Given the description of an element on the screen output the (x, y) to click on. 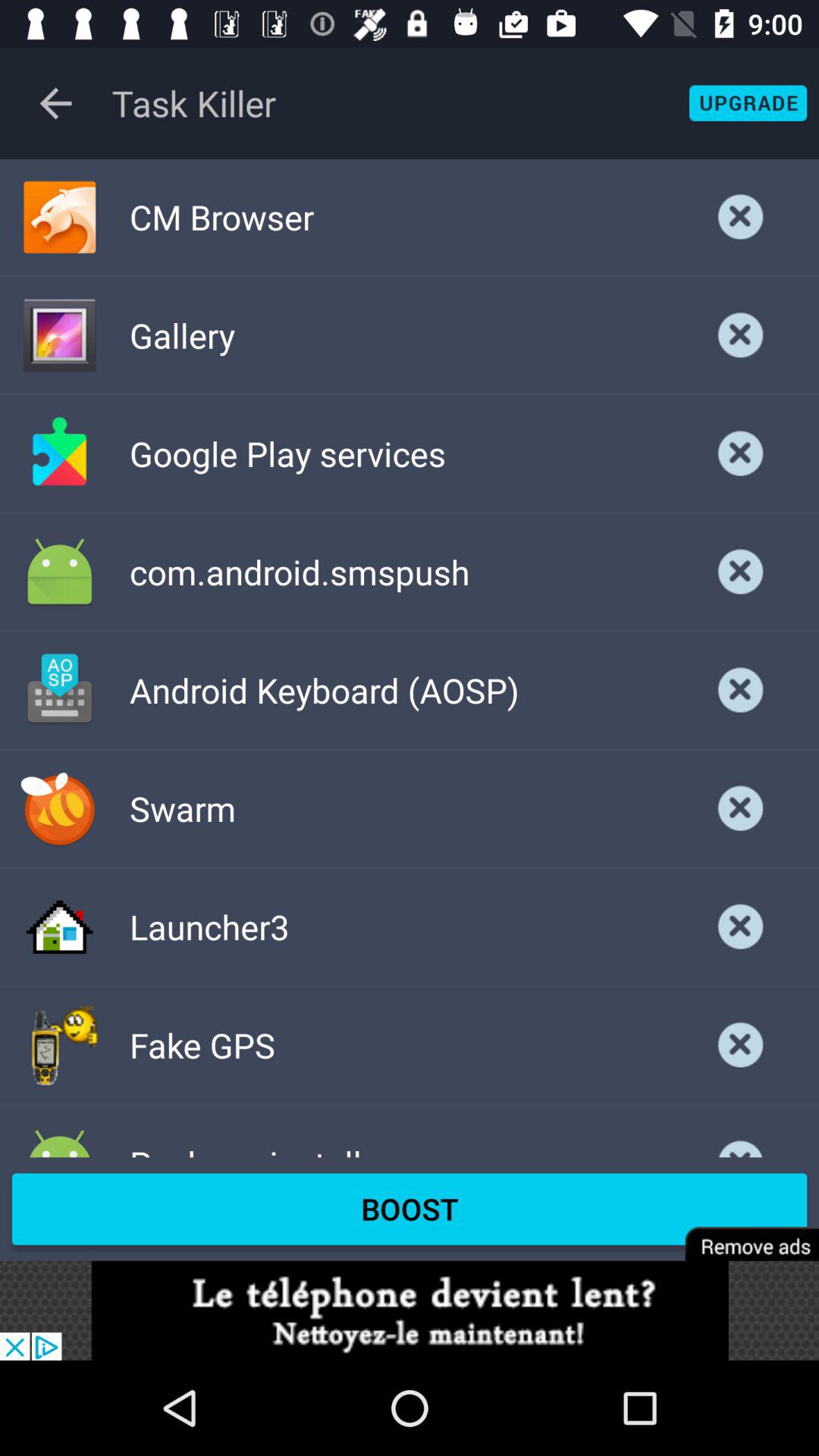
go premium (742, 1233)
